Given the description of an element on the screen output the (x, y) to click on. 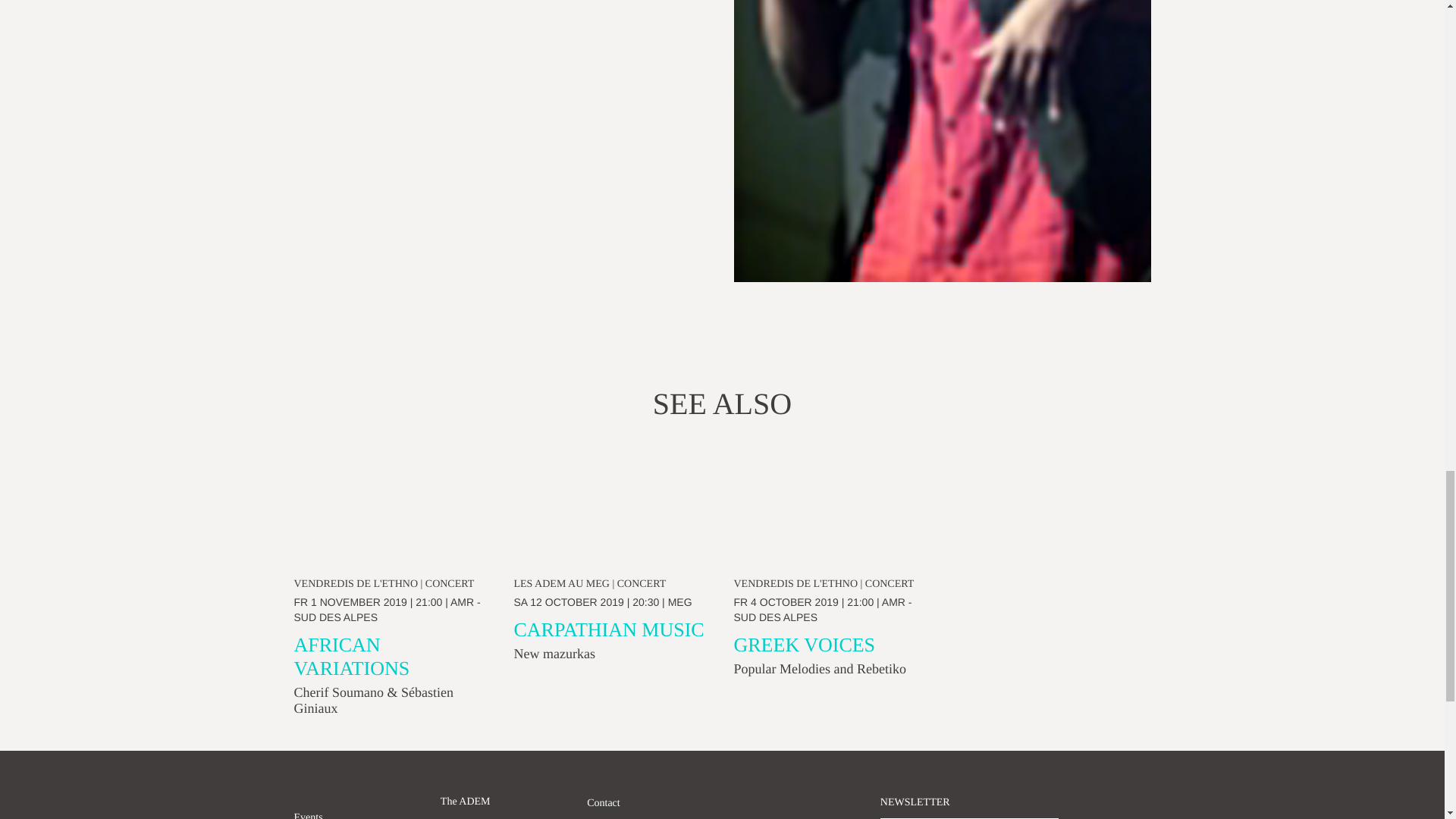
Contact (603, 803)
The ADEM (465, 805)
Events (308, 815)
